Given the description of an element on the screen output the (x, y) to click on. 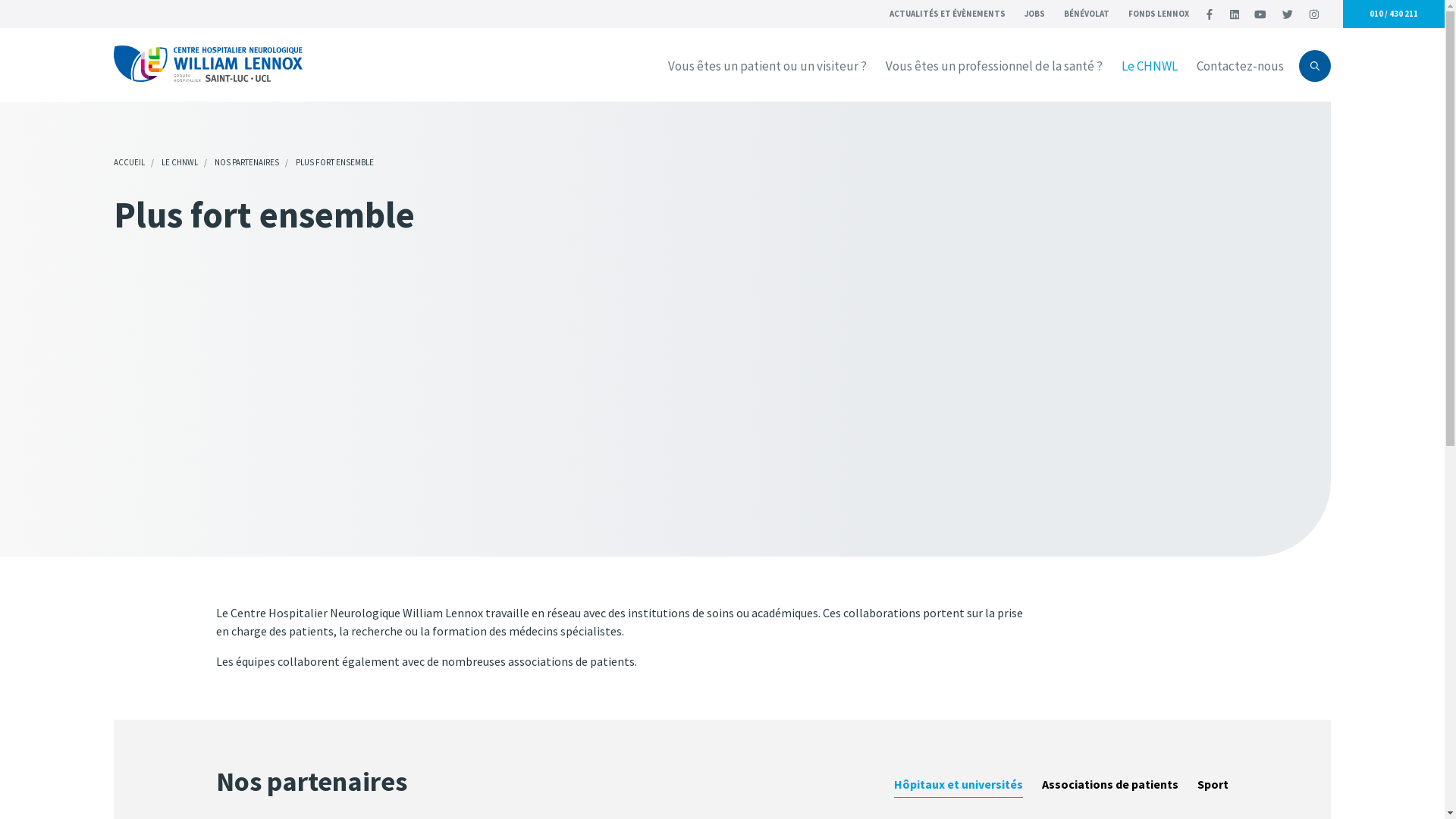
Contactez-nous Element type: text (1239, 66)
JOBS Element type: text (1033, 14)
Rechercher Element type: text (1243, 68)
FONDS LENNOX Element type: text (1158, 14)
010 / 430 211 Element type: text (1393, 14)
ACCUEIL Element type: text (128, 161)
